Given the description of an element on the screen output the (x, y) to click on. 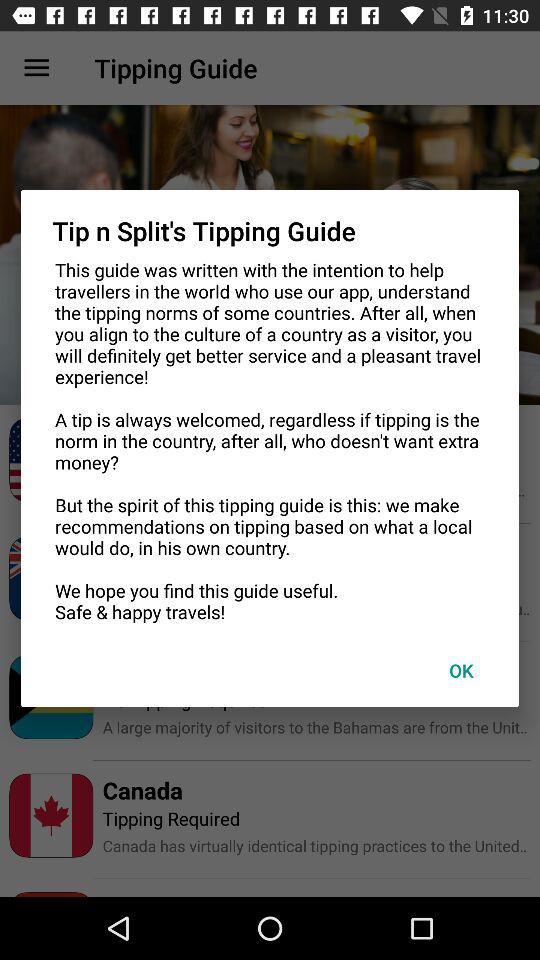
select the icon below this guide was (461, 669)
